Given the description of an element on the screen output the (x, y) to click on. 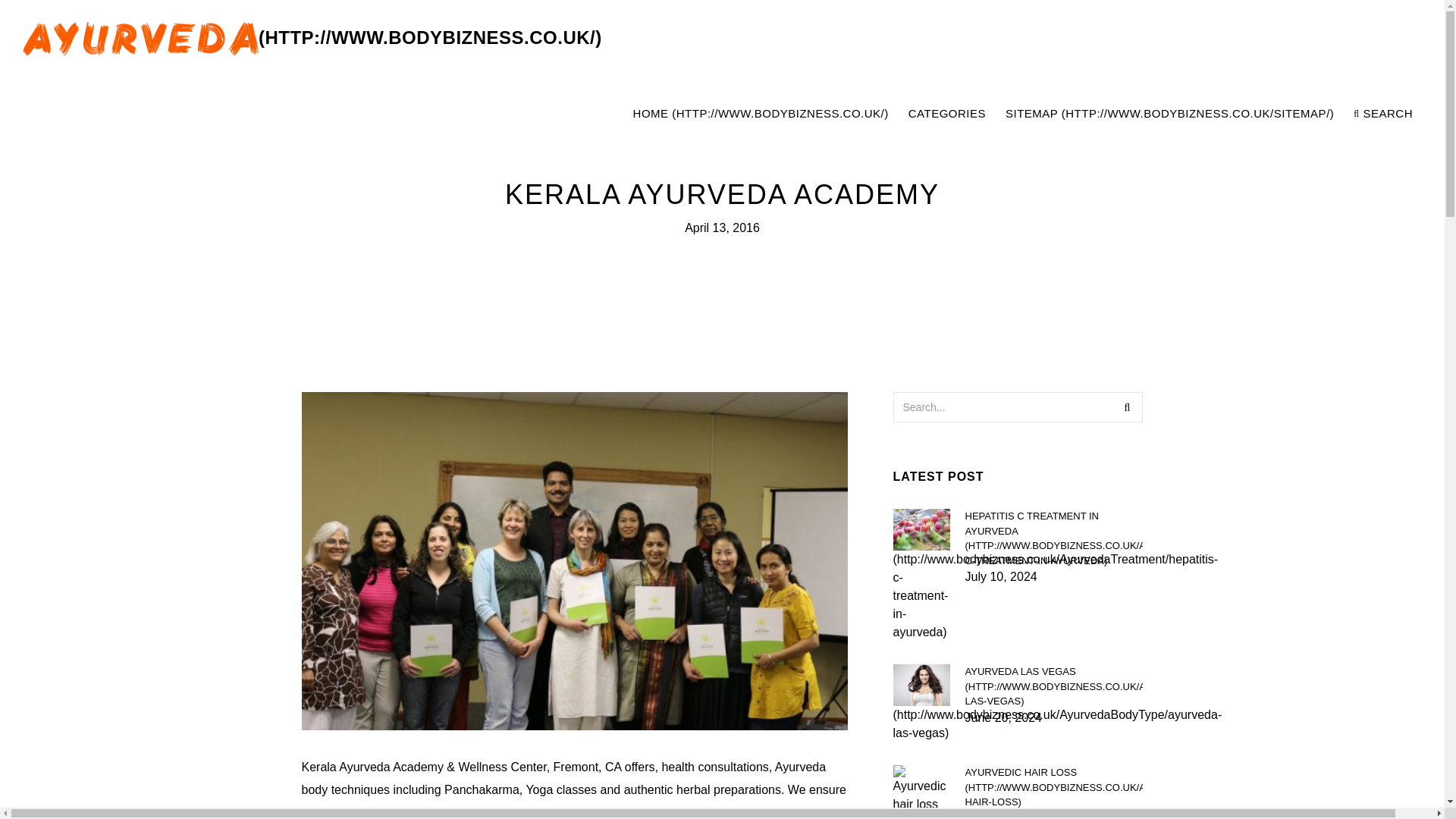
SEARCH (1382, 113)
AYURVEDIC HAIR LOSS (1052, 786)
HEPATITIS C TREATMENT IN AYURVEDA (1052, 538)
Ayurveda (312, 38)
AYURVEDA LAS VEGAS (1052, 686)
HOME (761, 113)
CATEGORIES (946, 113)
SITEMAP (1168, 113)
Search (1126, 407)
